Given the description of an element on the screen output the (x, y) to click on. 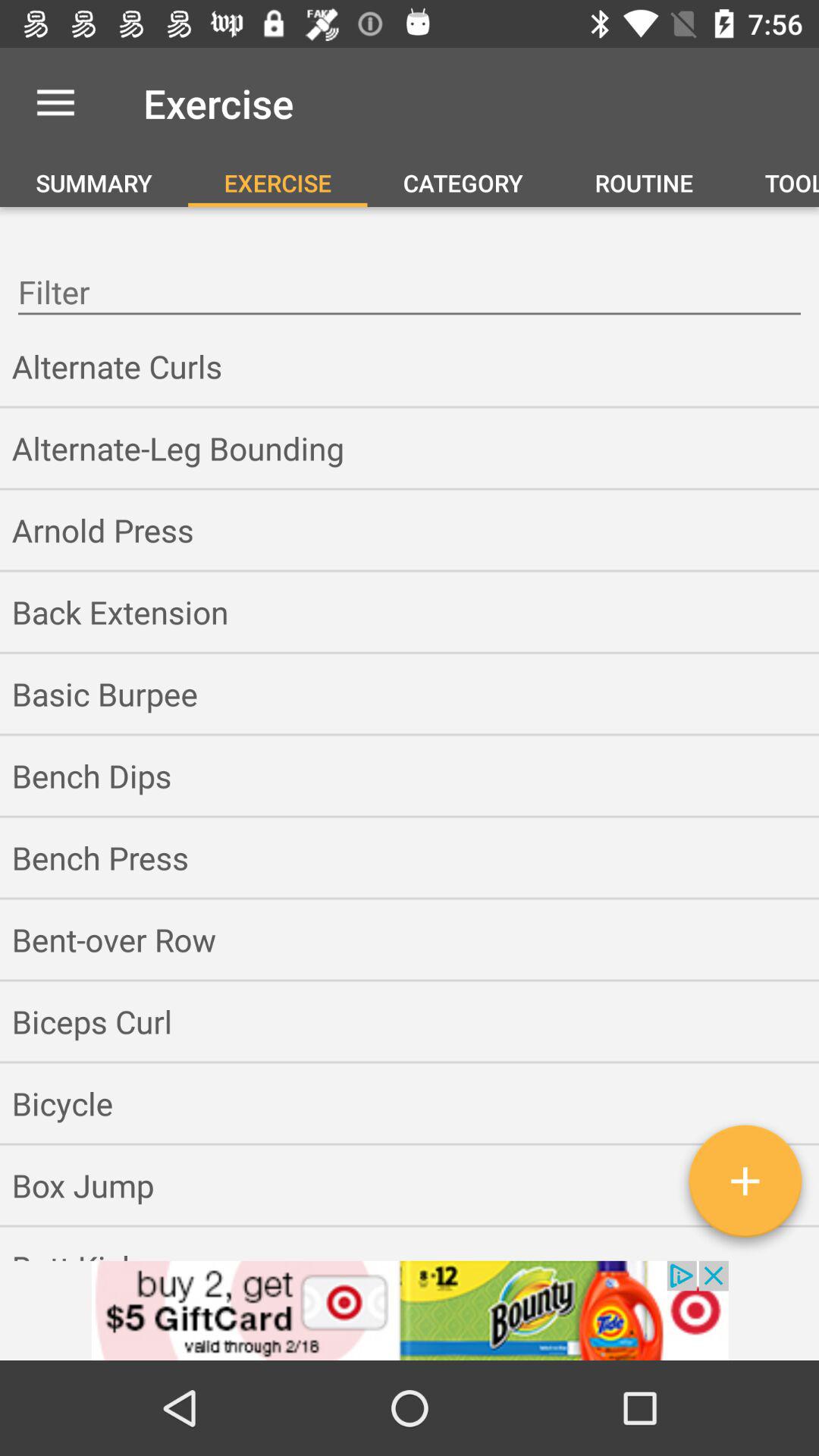
open advertisement (409, 1310)
